Given the description of an element on the screen output the (x, y) to click on. 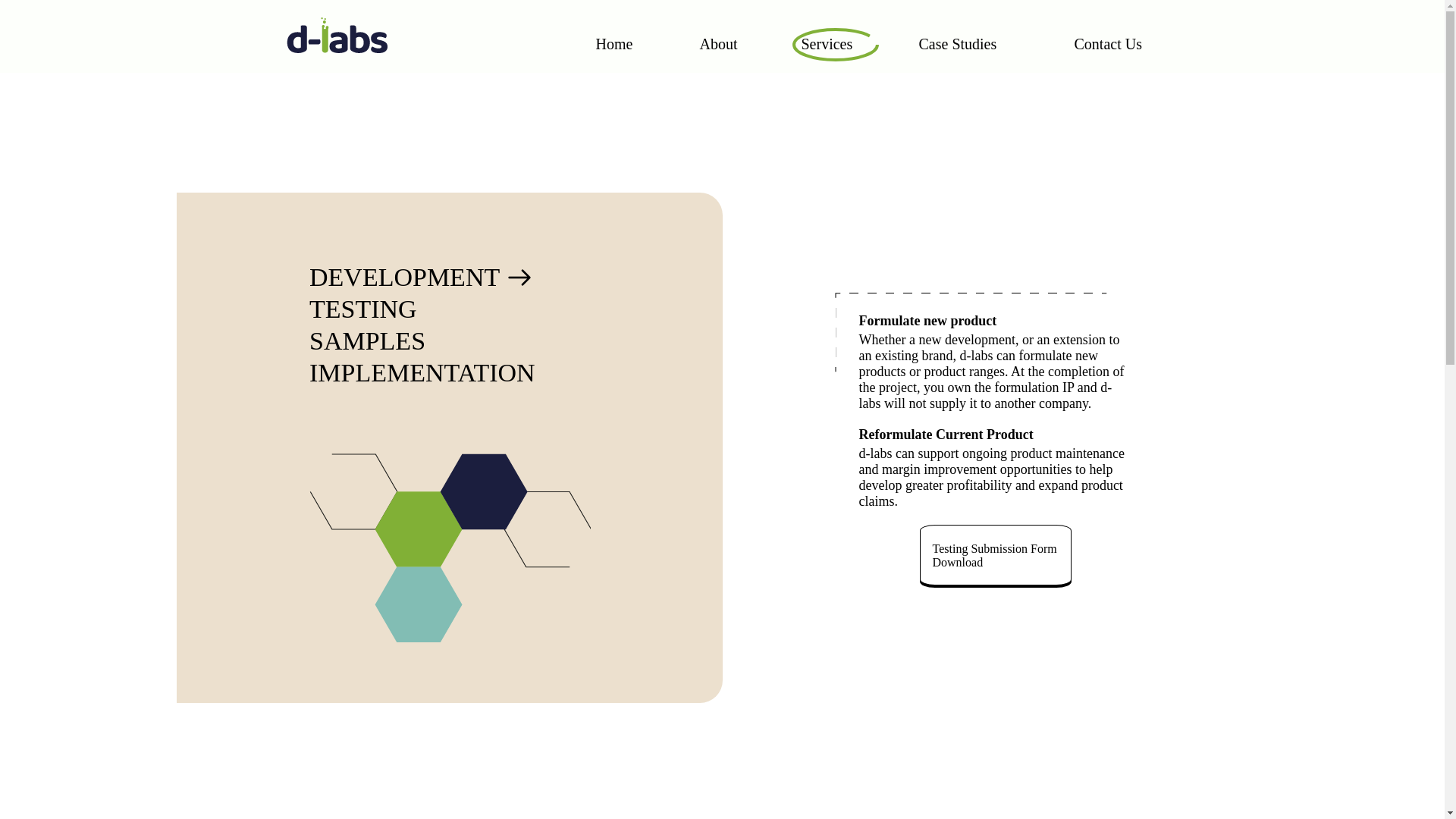
Case Studies Element type: text (958, 42)
Contact Us Element type: text (1107, 42)
Home Element type: text (614, 42)
Services Element type: text (826, 42)
About Element type: text (718, 42)
